Given the description of an element on the screen output the (x, y) to click on. 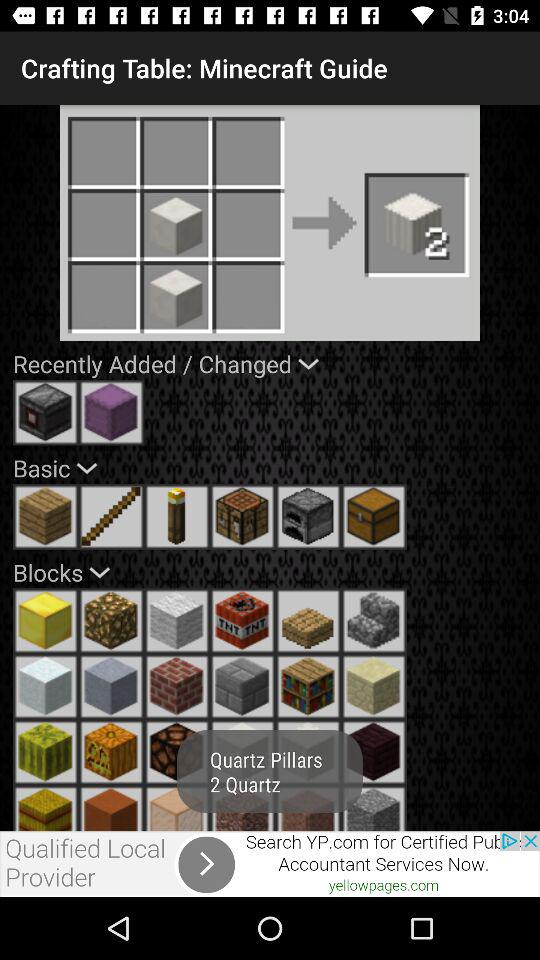
item in item list (177, 808)
